Given the description of an element on the screen output the (x, y) to click on. 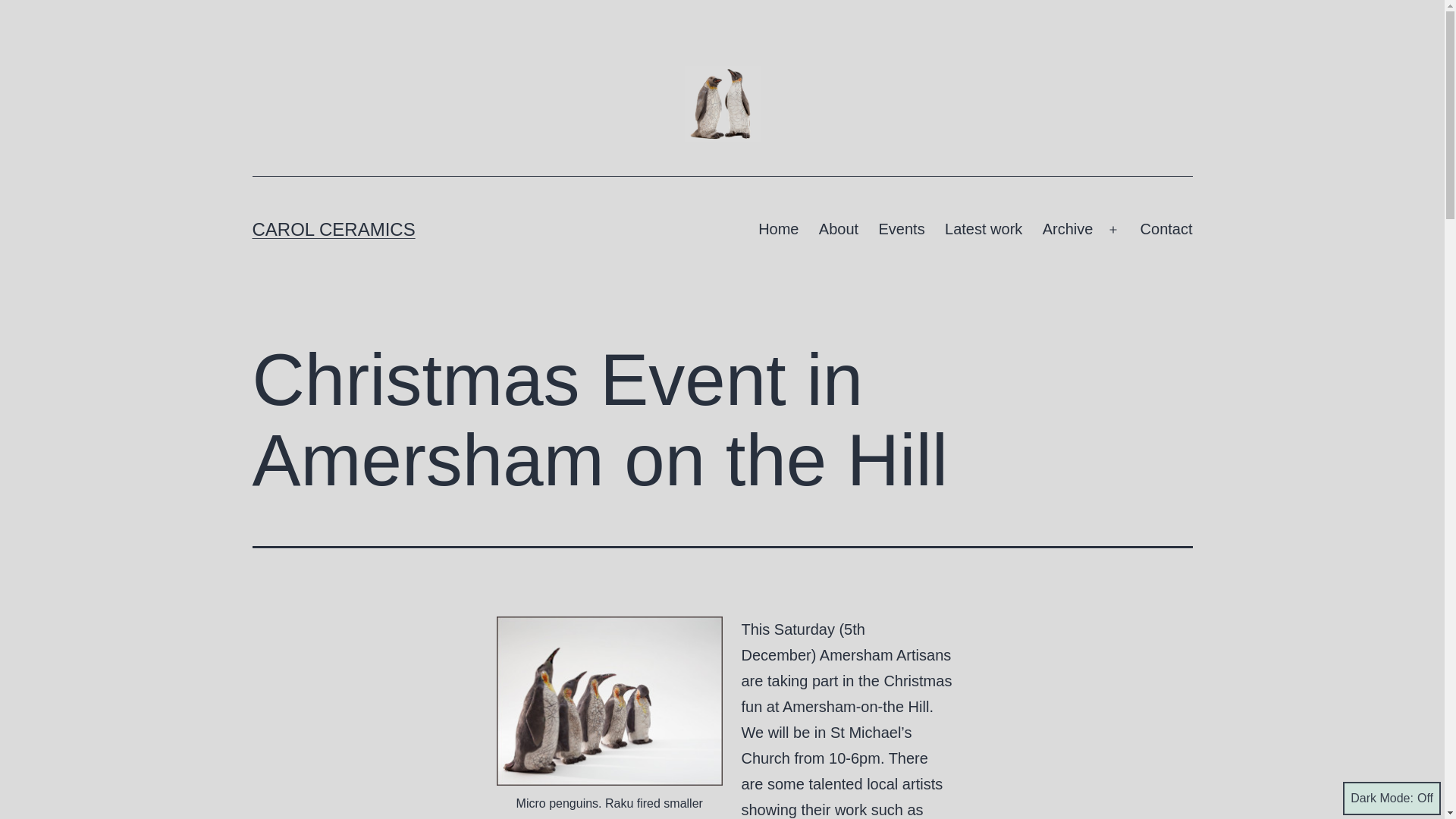
CAROL CERAMICS (332, 229)
About (839, 229)
Archive (1067, 229)
Home (778, 229)
Contact (1165, 229)
Latest work (983, 229)
Events (900, 229)
Dark Mode: (1391, 798)
